Given the description of an element on the screen output the (x, y) to click on. 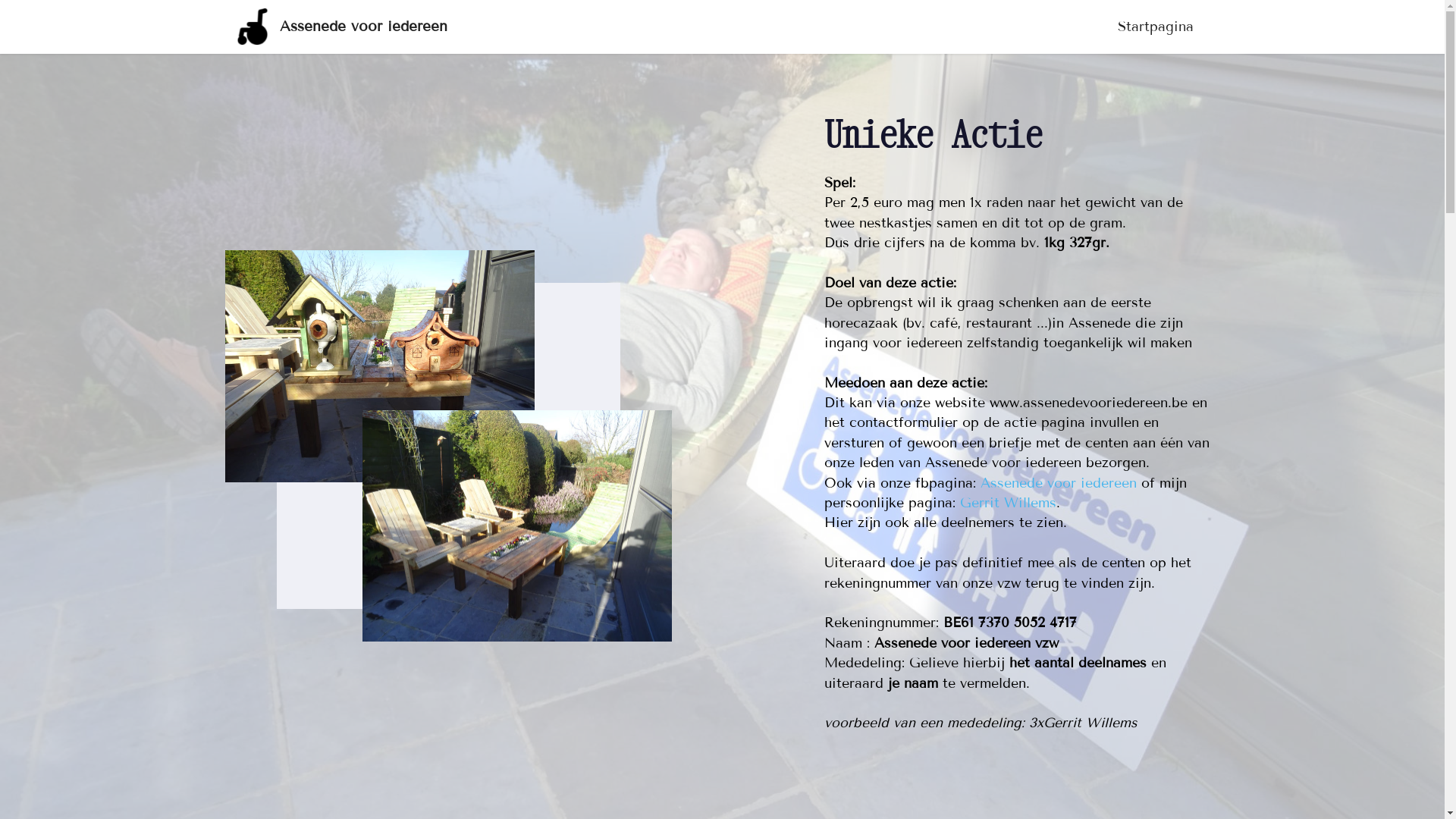
Assenede voor iedereen Element type: text (363, 25)
Startpagina Element type: text (1155, 26)
Gerrit Willems Element type: text (1008, 502)
Assenede voor iedereen Element type: text (1057, 482)
